Given the description of an element on the screen output the (x, y) to click on. 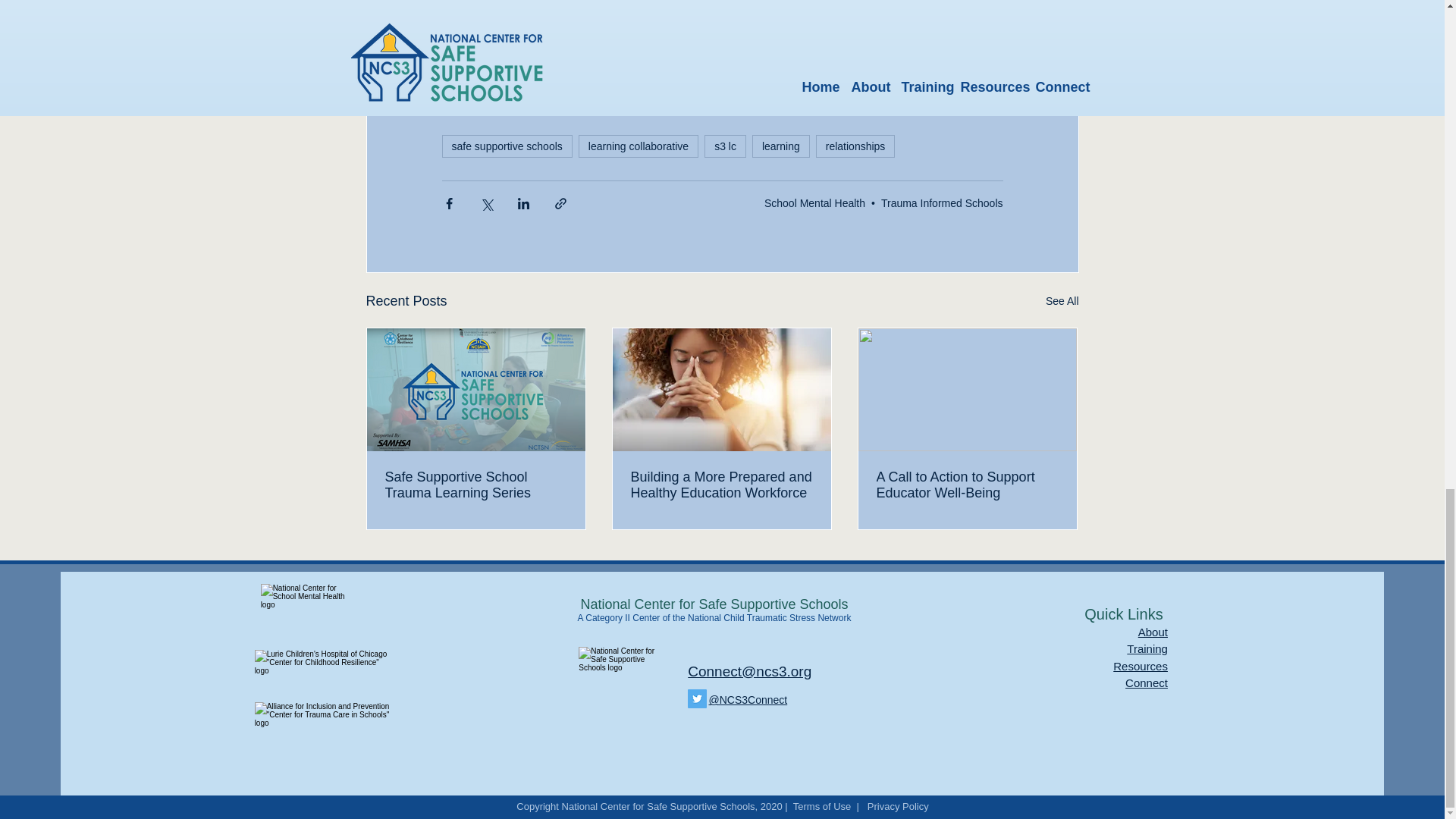
s3 lc (724, 146)
Building a More Prepared and Healthy Education Workforce (721, 485)
Trauma Informed Schools (941, 203)
relationships (855, 146)
A Call to Action to Support Educator Well-Being (967, 485)
See All (1061, 301)
safe supportive schools (506, 146)
learning collaborative (638, 146)
School Mental Health (814, 203)
Safe Supportive School Trauma Learning Series (476, 485)
learning (780, 146)
